Given the description of an element on the screen output the (x, y) to click on. 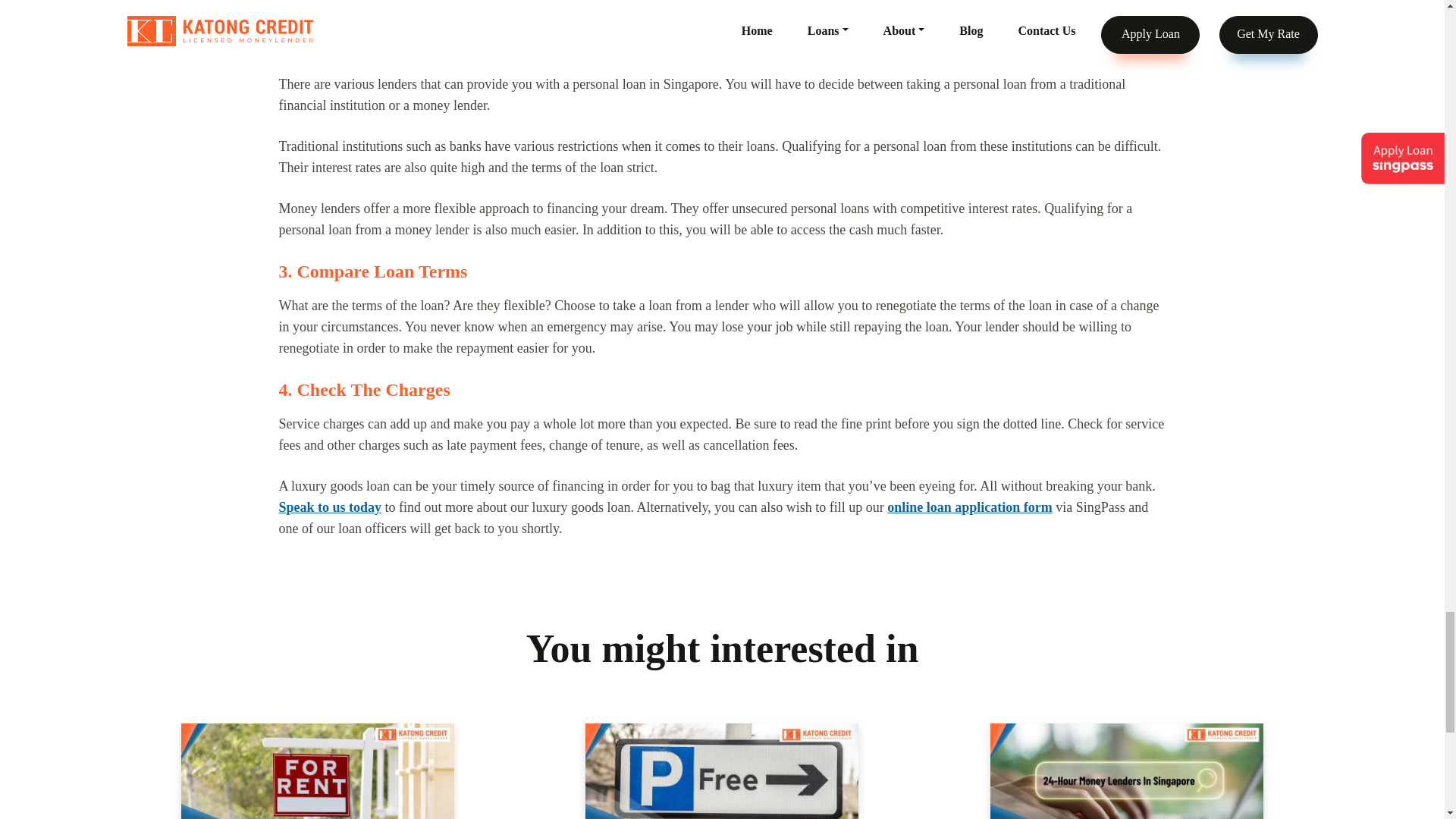
online loan application form (969, 507)
Speak to us today (330, 507)
